Given the description of an element on the screen output the (x, y) to click on. 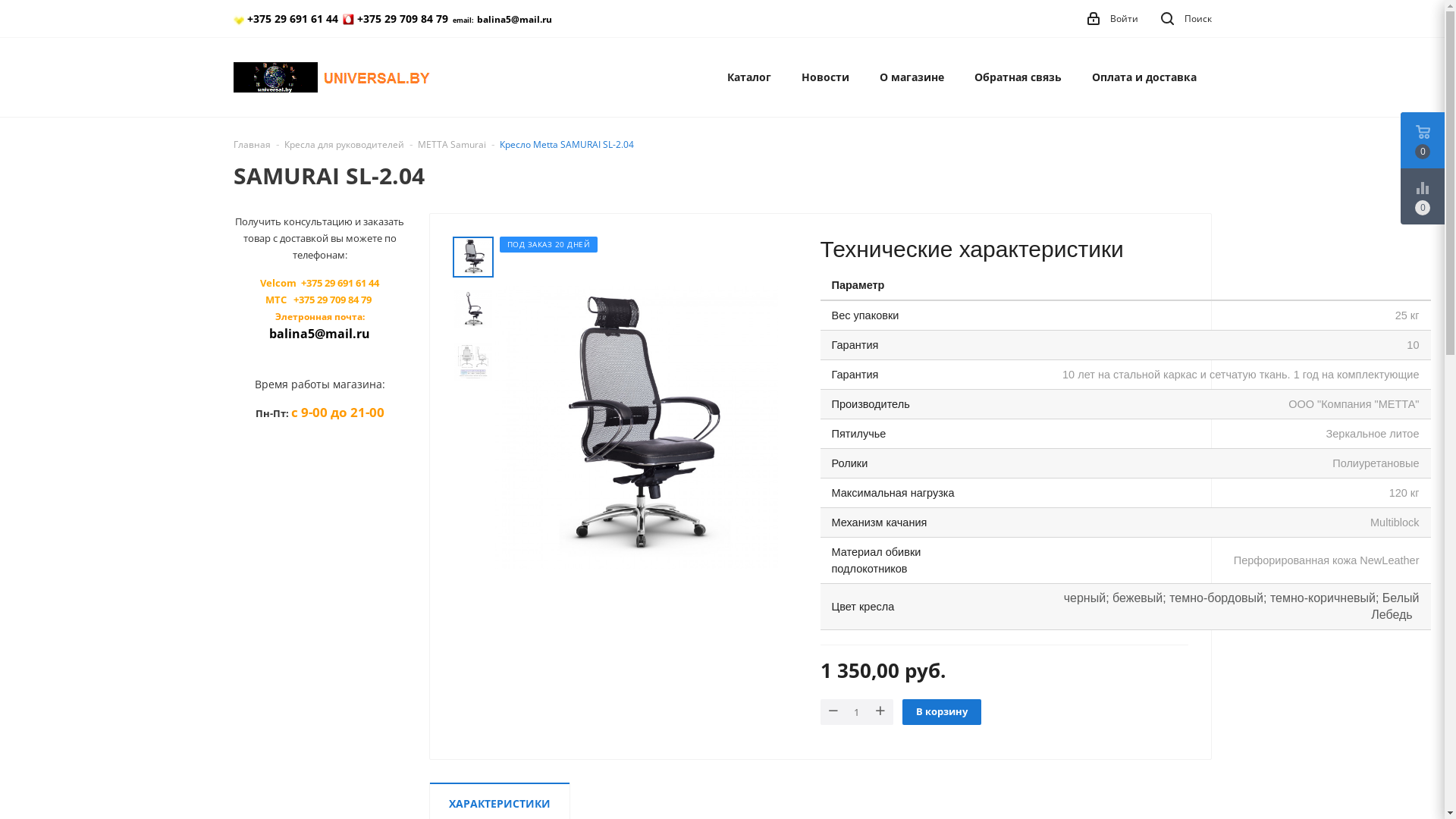
balina5@mail.ru Element type: text (513, 18)
balina5@mail.ru Element type: text (319, 333)
